Given the description of an element on the screen output the (x, y) to click on. 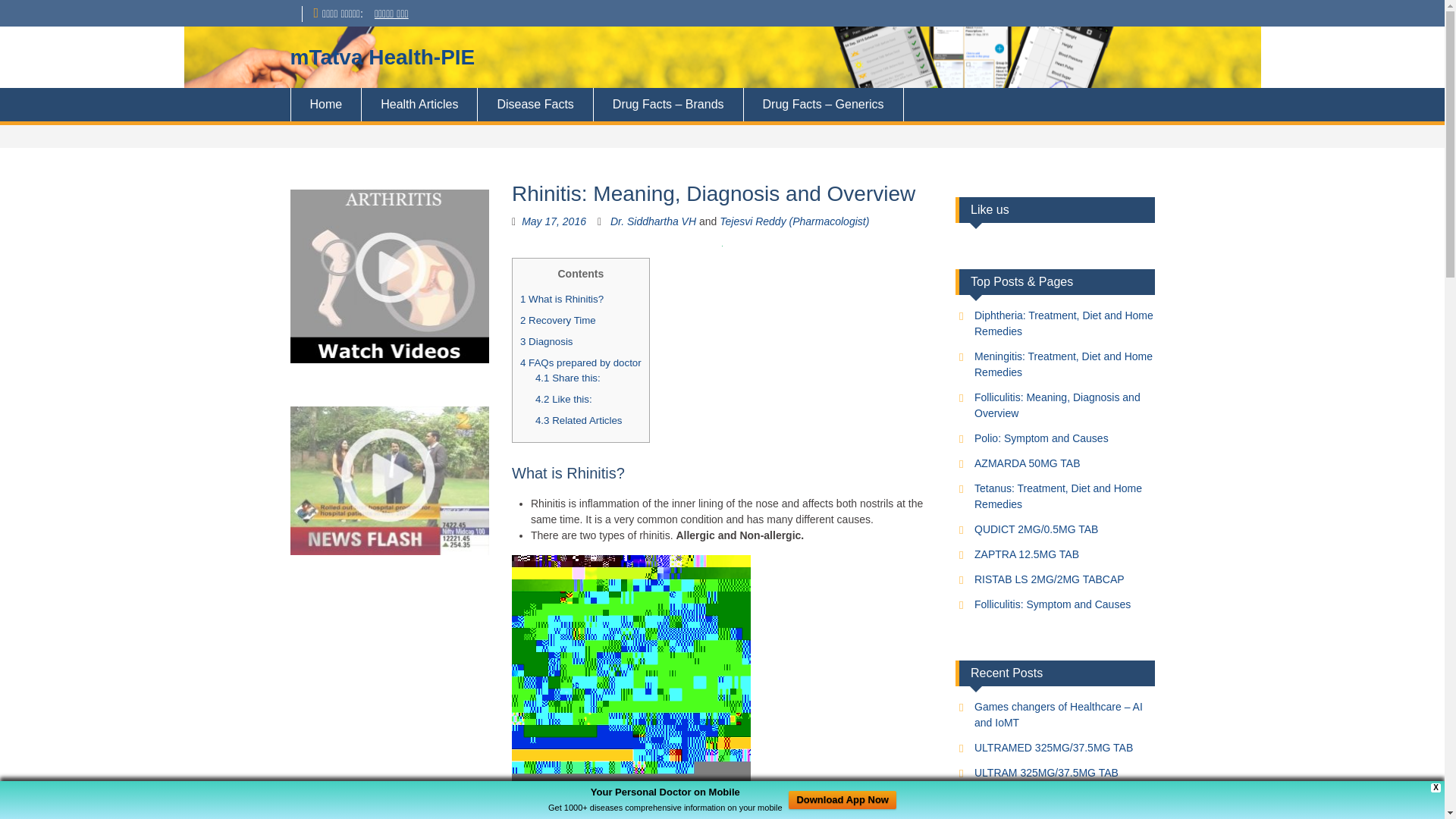
3 Diagnosis (546, 341)
4 FAQs prepared by doctor (580, 362)
Disease Facts (534, 104)
mTatva Health-PIE (381, 56)
4.3 Related Articles (579, 419)
2 Recovery Time (557, 319)
4.1 Share this: (567, 378)
Posts by Dr. Siddhartha VH (652, 221)
May 17, 2016 (553, 221)
Health Articles (419, 104)
